Given the description of an element on the screen output the (x, y) to click on. 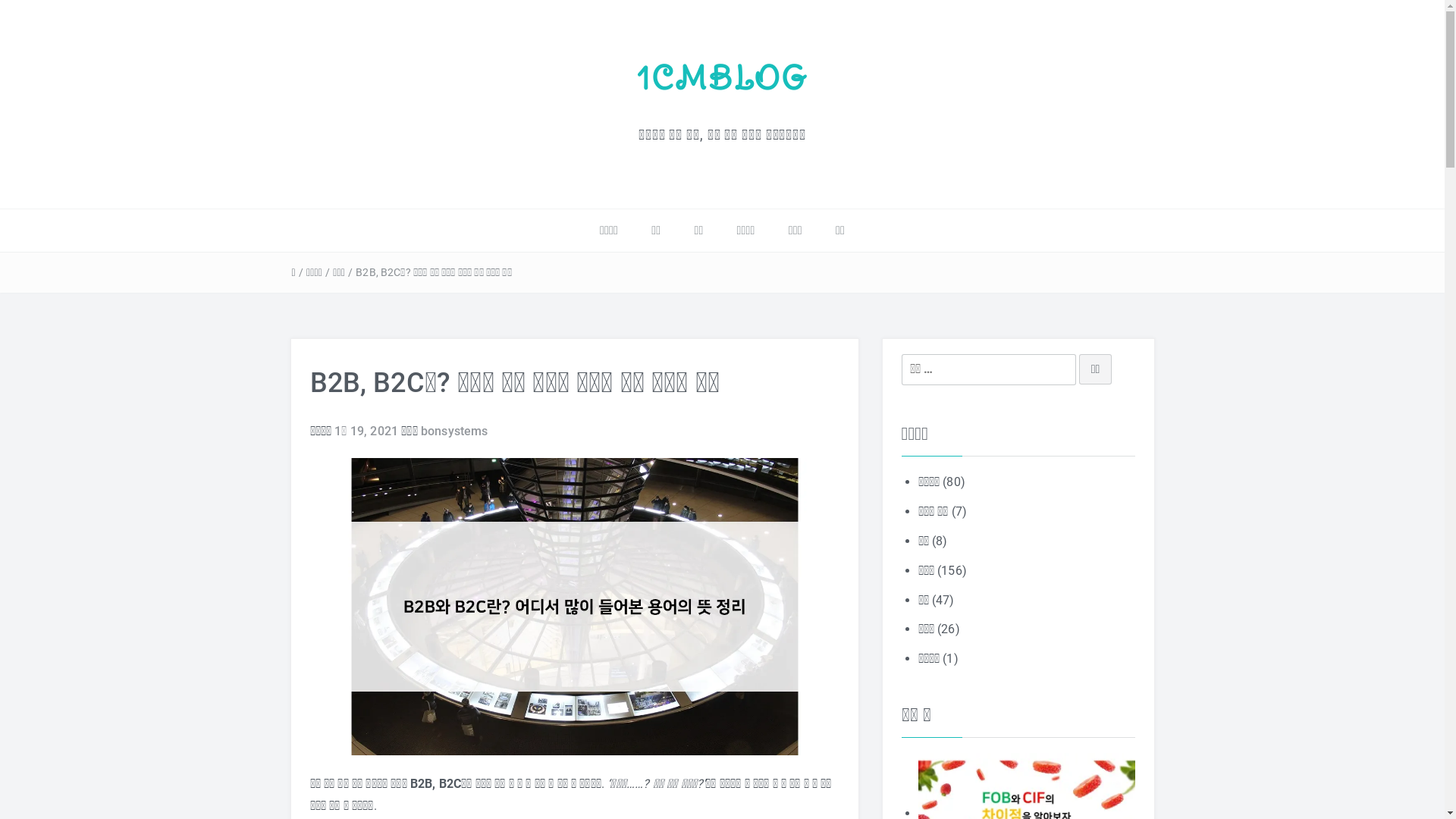
1CMBLOG Element type: text (722, 77)
bonsystems Element type: text (454, 430)
